Given the description of an element on the screen output the (x, y) to click on. 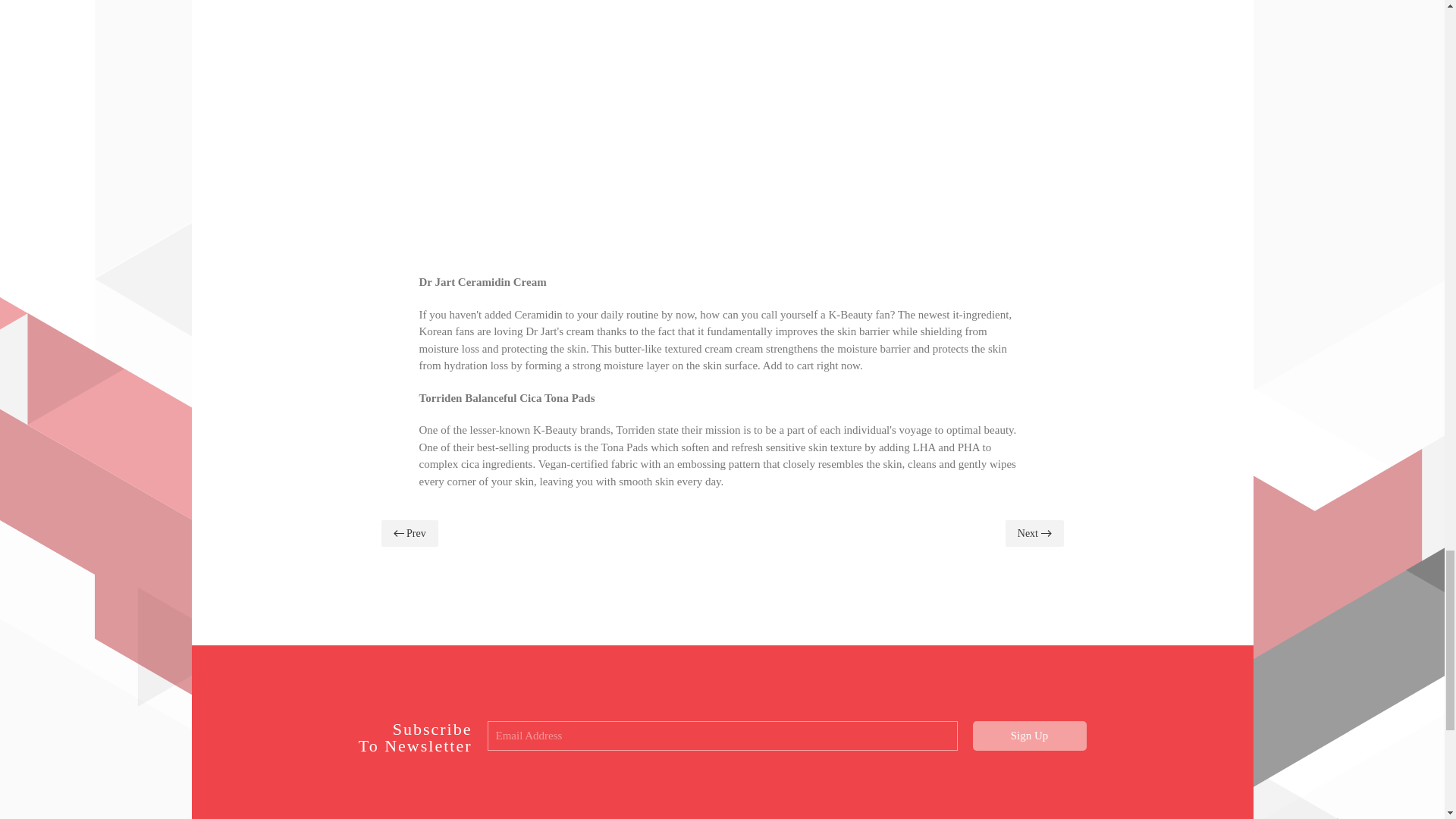
Sign Up (1029, 736)
Next (1035, 533)
Prev (409, 533)
